Given the description of an element on the screen output the (x, y) to click on. 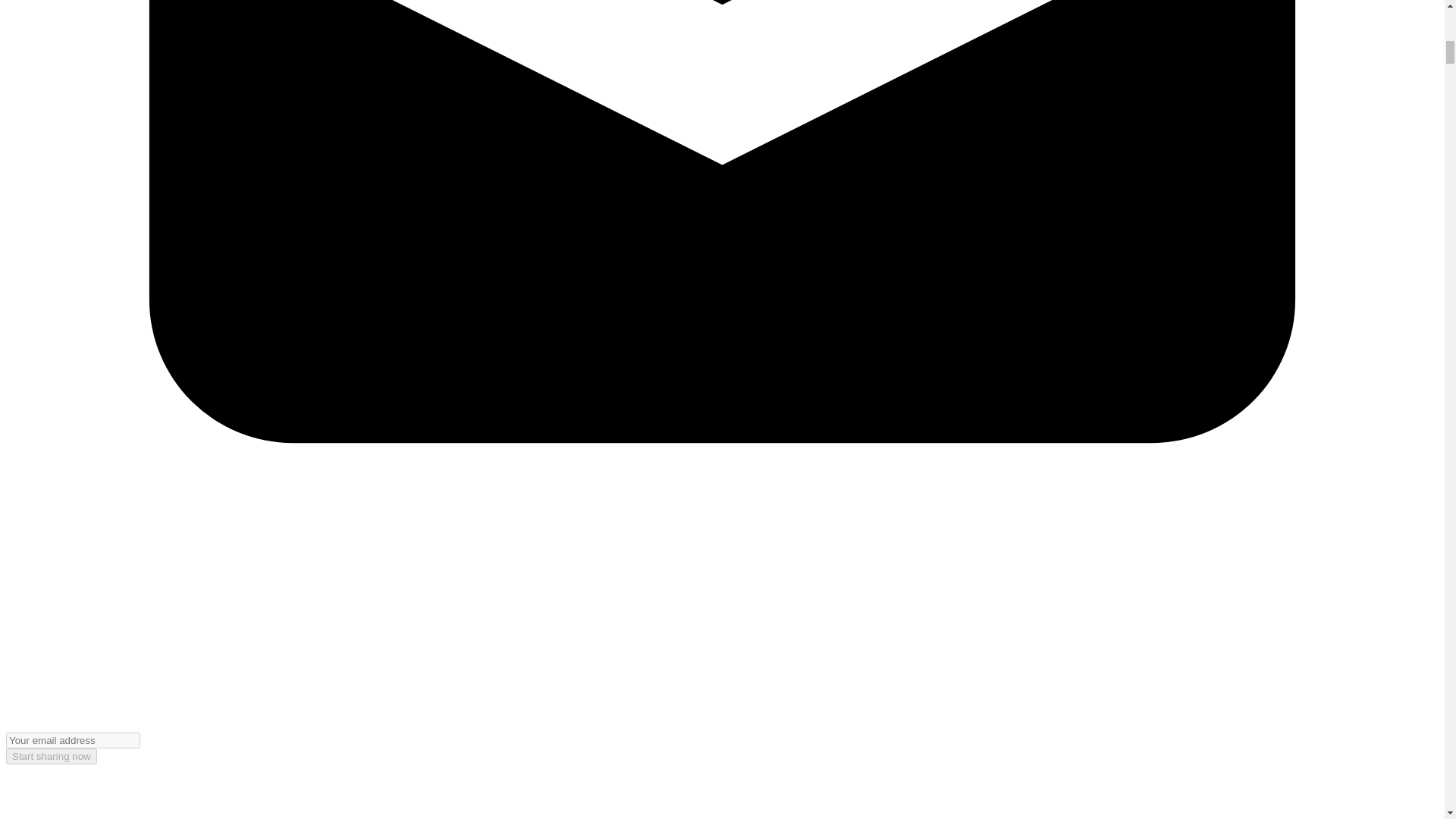
Start sharing now (51, 756)
